Given the description of an element on the screen output the (x, y) to click on. 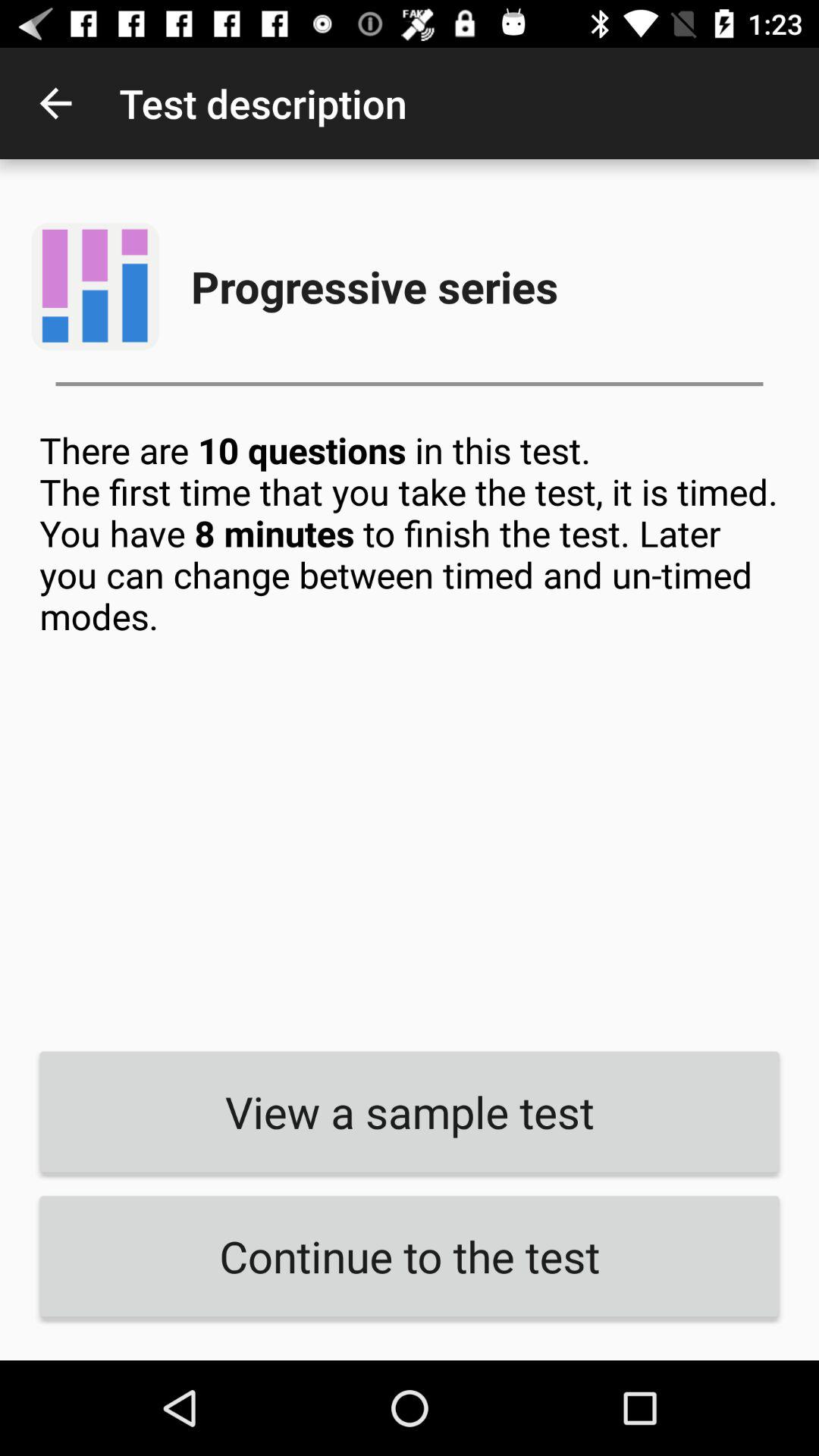
select the app next to test description item (55, 103)
